Given the description of an element on the screen output the (x, y) to click on. 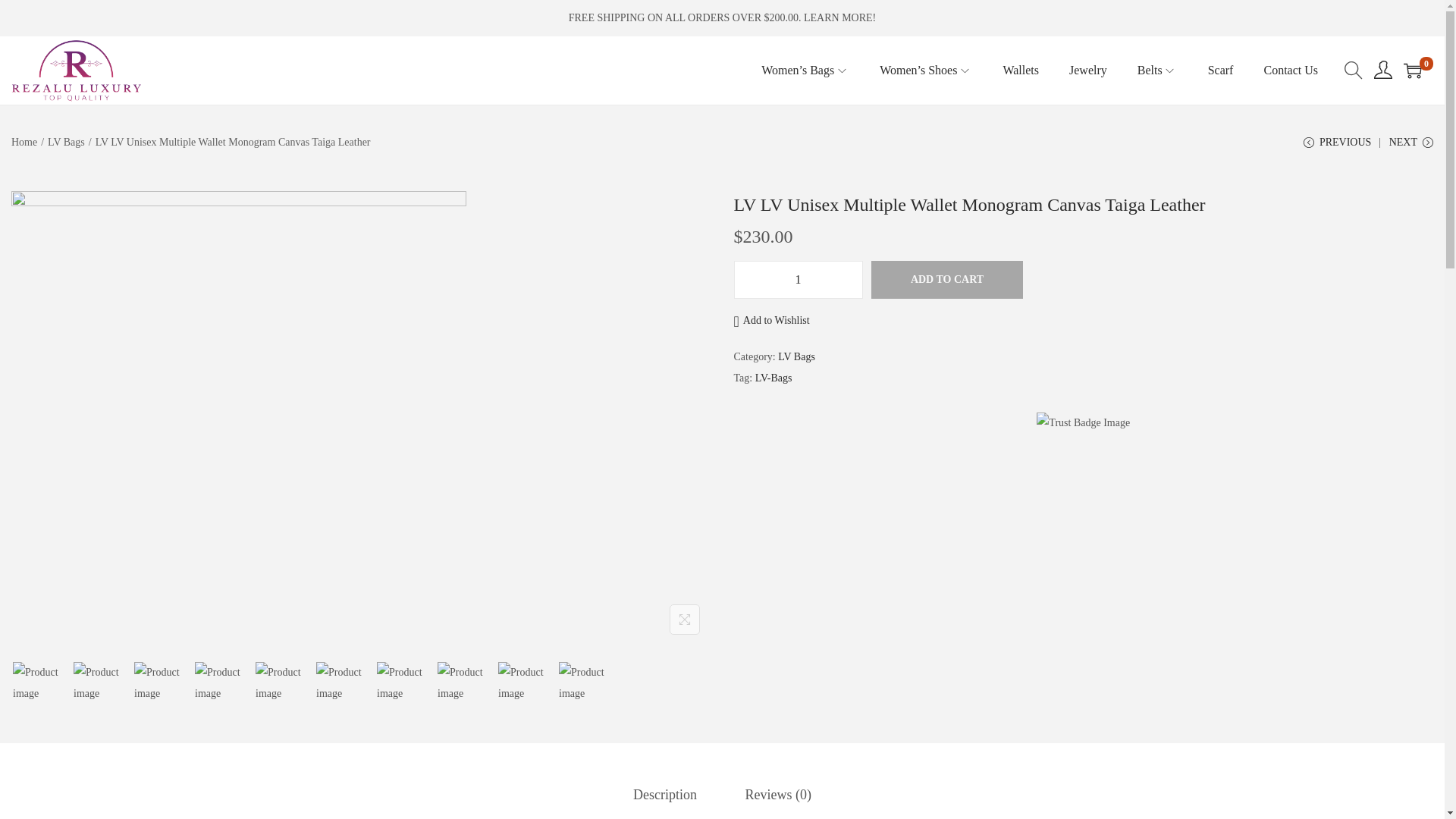
LEARN MORE! (839, 17)
Home (24, 142)
1 (797, 279)
LV Bags (66, 142)
NEXT (1410, 147)
0 (1412, 70)
PREVIOUS (1337, 147)
